Given the description of an element on the screen output the (x, y) to click on. 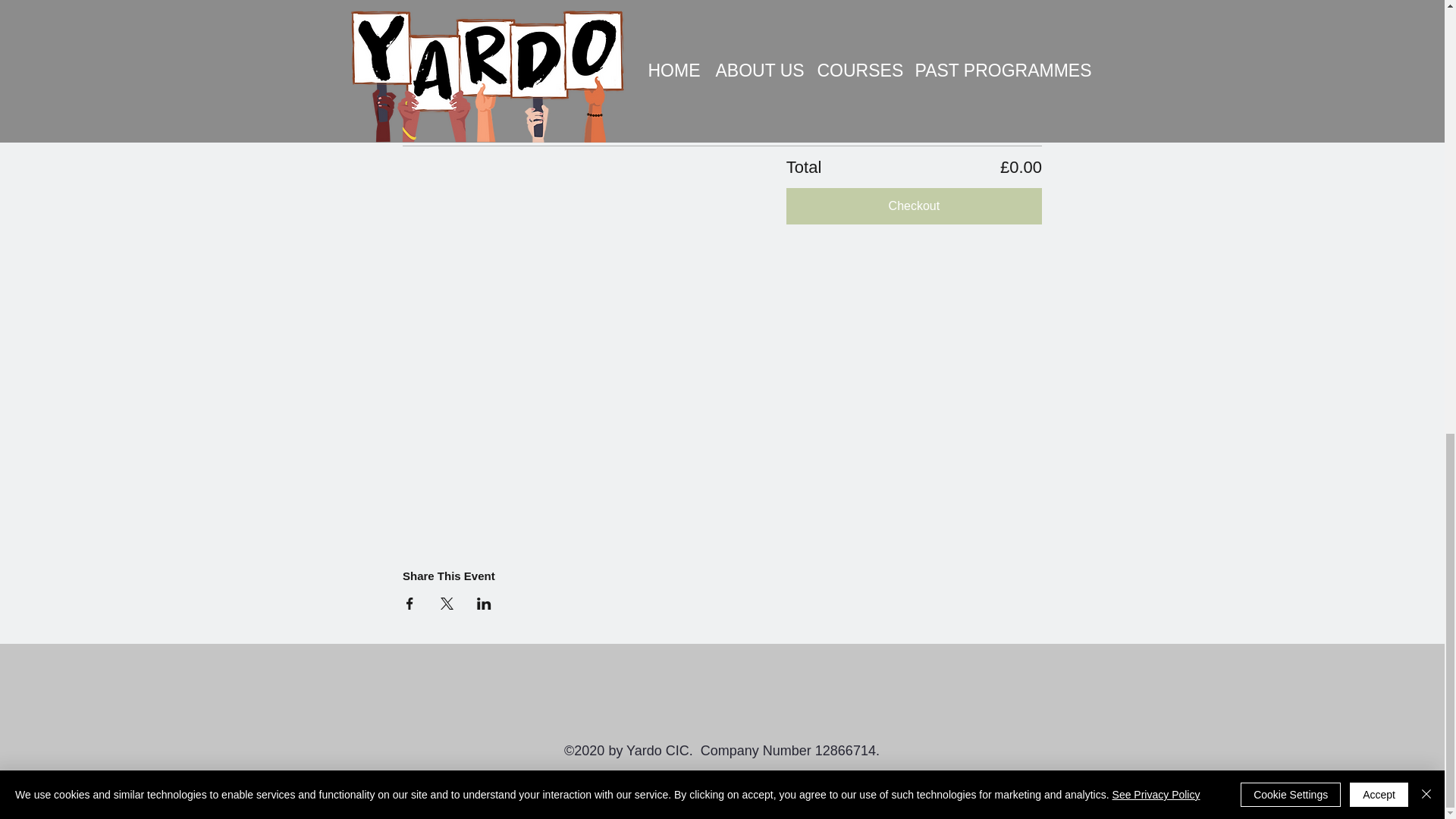
Checkout (914, 205)
More info (434, 115)
Privacy Policy (720, 778)
More info (434, 9)
